Given the description of an element on the screen output the (x, y) to click on. 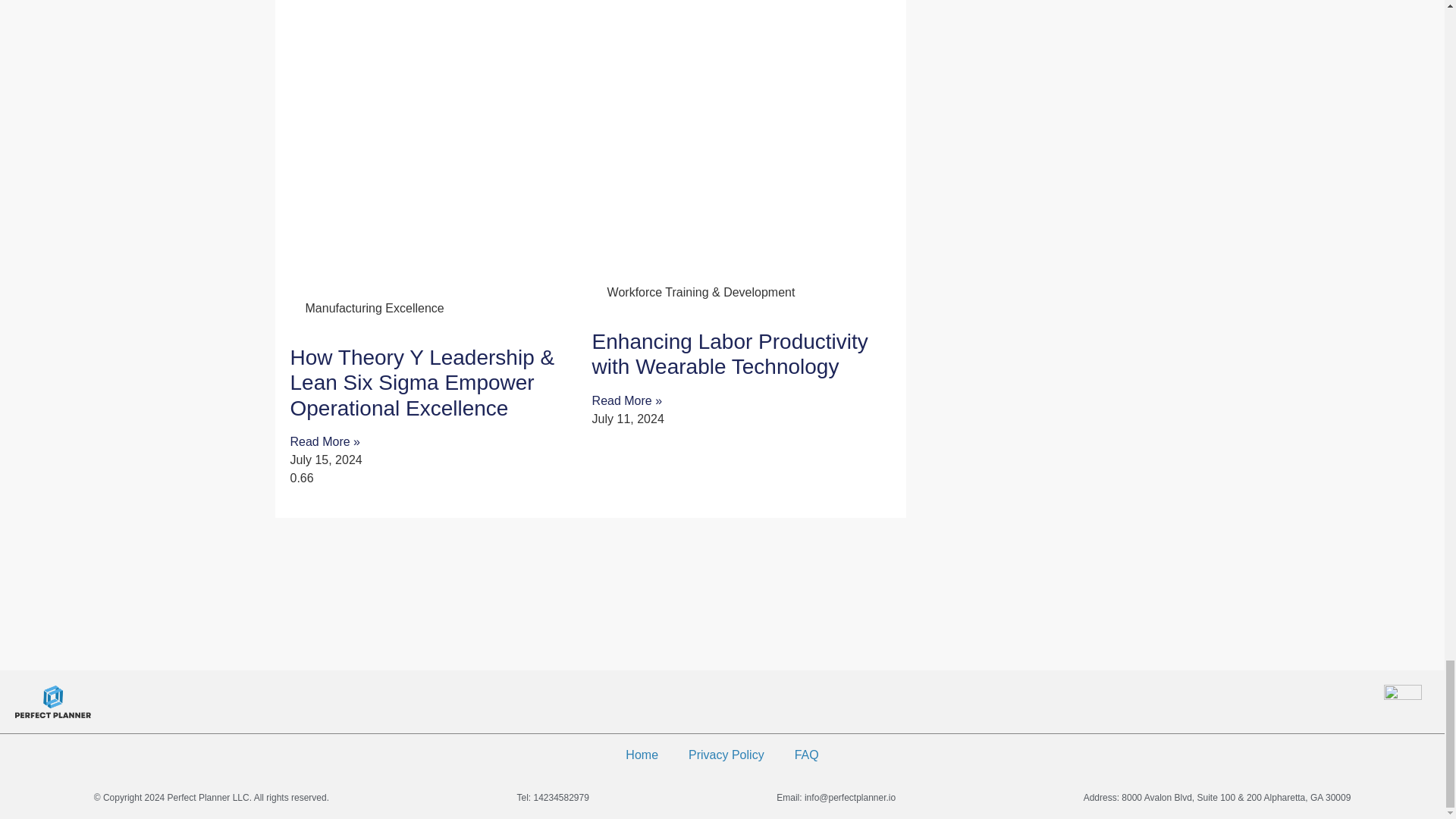
Home (641, 755)
Privacy Policy (725, 755)
FAQ (806, 755)
Tel: 14234582979 (552, 797)
Enhancing Labor Productivity with Wearable Technology (729, 354)
